Given the description of an element on the screen output the (x, y) to click on. 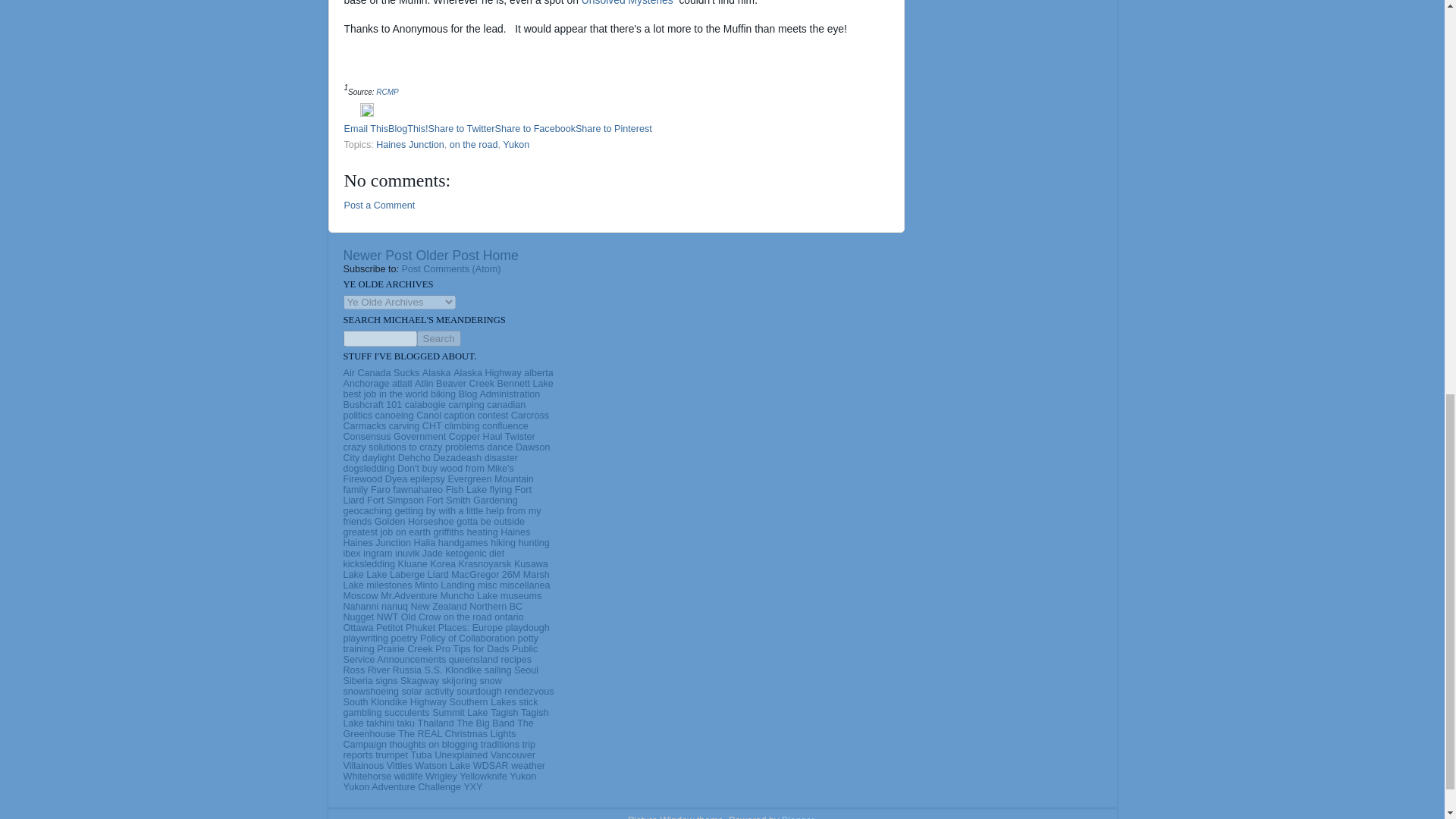
Beaver Creek (465, 383)
BlogThis! (408, 128)
Atlin (423, 383)
alberta (538, 372)
Newer Post (377, 255)
Share to Facebook (535, 128)
biking (442, 394)
Share to Pinterest (613, 128)
RCMP (386, 91)
Share to Facebook (535, 128)
Search (438, 338)
Edit Post (366, 113)
Haines Junction (409, 144)
Share to Twitter (461, 128)
Share to Twitter (461, 128)
